Given the description of an element on the screen output the (x, y) to click on. 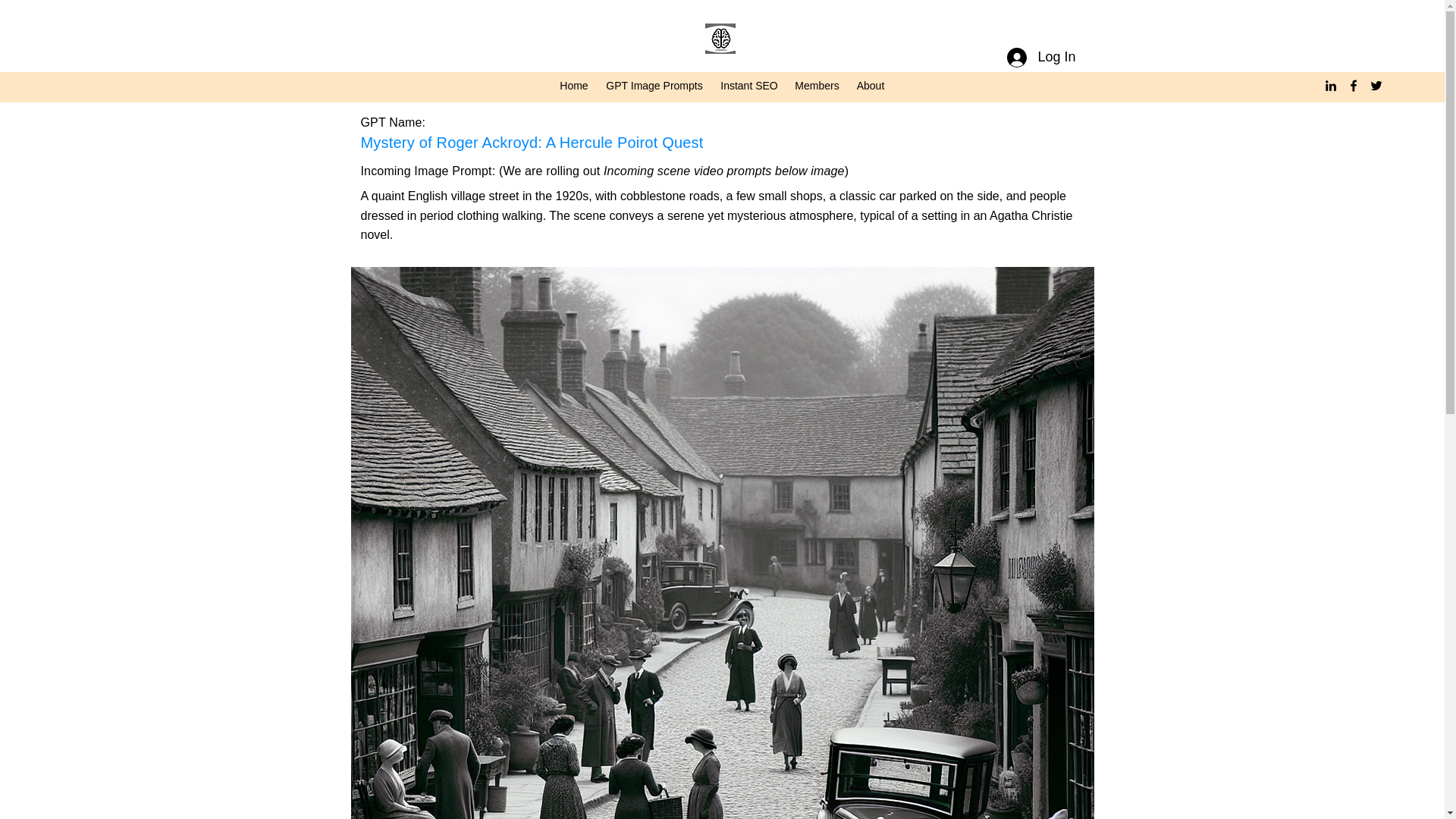
About (869, 85)
Home (573, 85)
Log In (1040, 57)
Instant SEO (749, 85)
Members (816, 85)
GPT Image Prompts (653, 85)
